Given the description of an element on the screen output the (x, y) to click on. 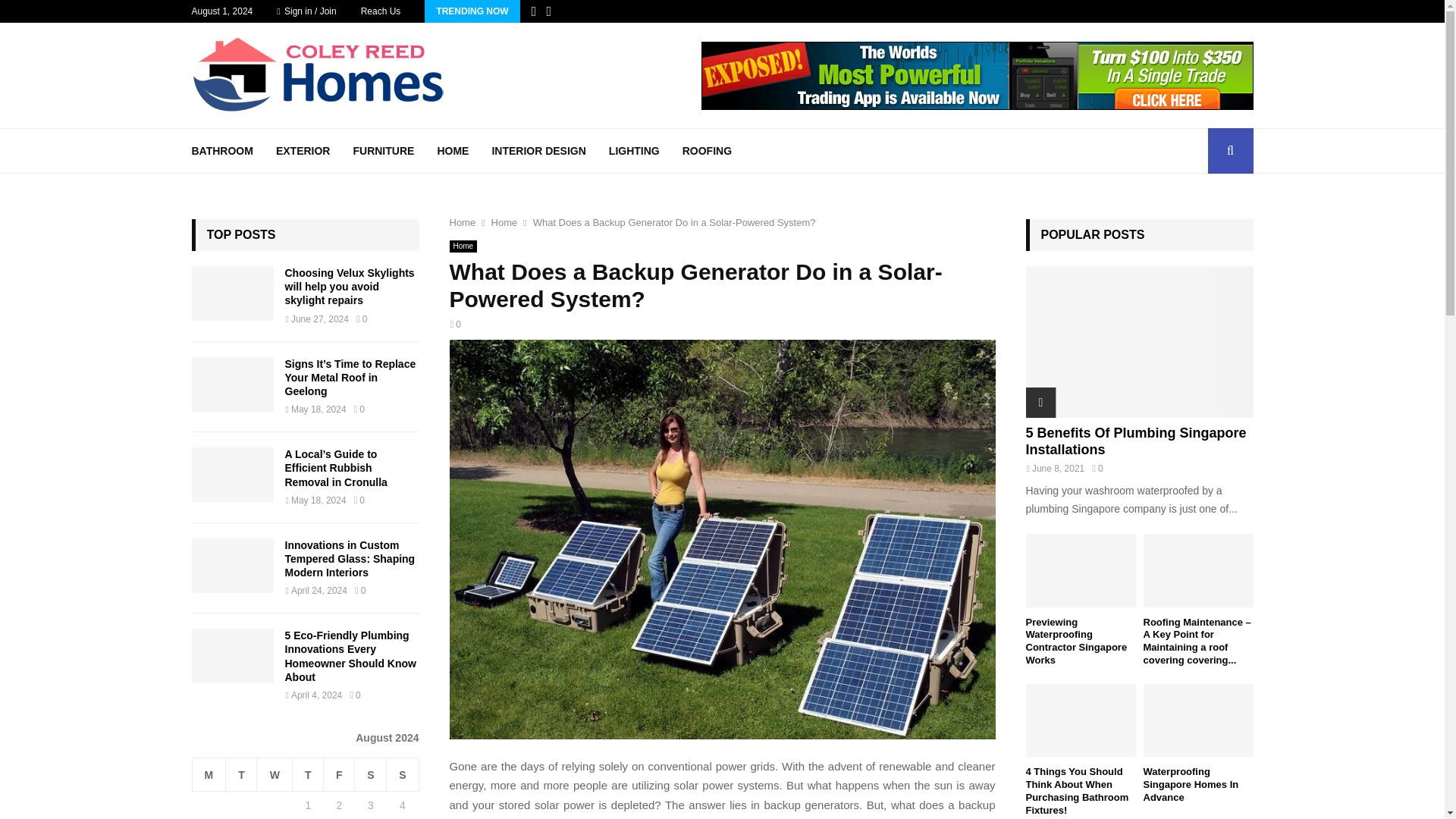
ROOFING (707, 150)
Login to your account (722, 293)
INTERIOR DESIGN (538, 150)
Home (462, 246)
EXTERIOR (303, 150)
Reach Us (381, 11)
Home (505, 222)
What Does a Backup Generator Do in a Solar-Powered System? (673, 222)
BATHROOM (220, 150)
0 (455, 324)
LIGHTING (633, 150)
Home (462, 222)
FURNITURE (382, 150)
